Given the description of an element on the screen output the (x, y) to click on. 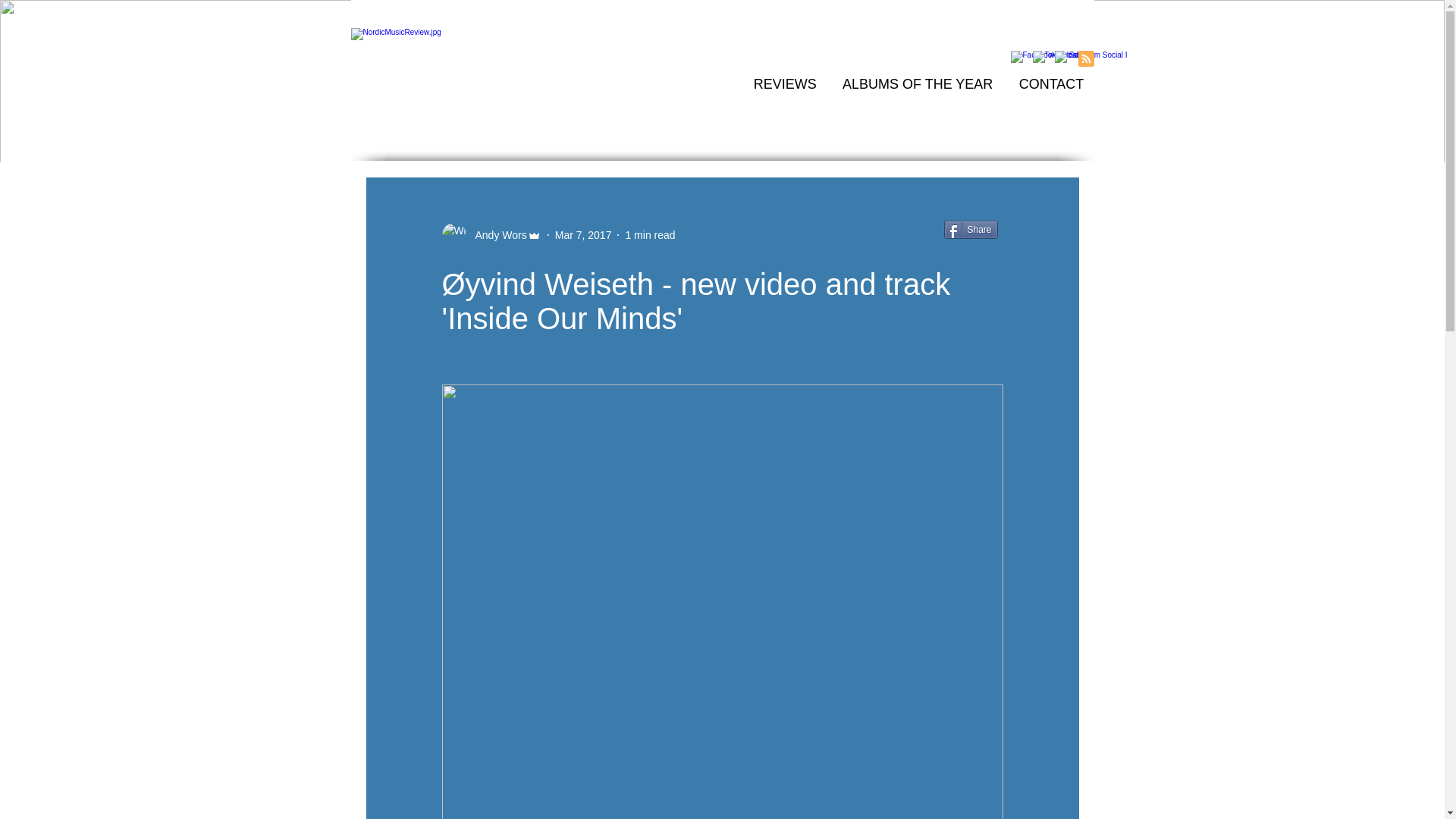
Mar 7, 2017 (582, 234)
CONTACT (1051, 83)
1 min read (649, 234)
Share (970, 229)
Share (970, 229)
REVIEWS (783, 83)
Andy Wors (495, 235)
